Given the description of an element on the screen output the (x, y) to click on. 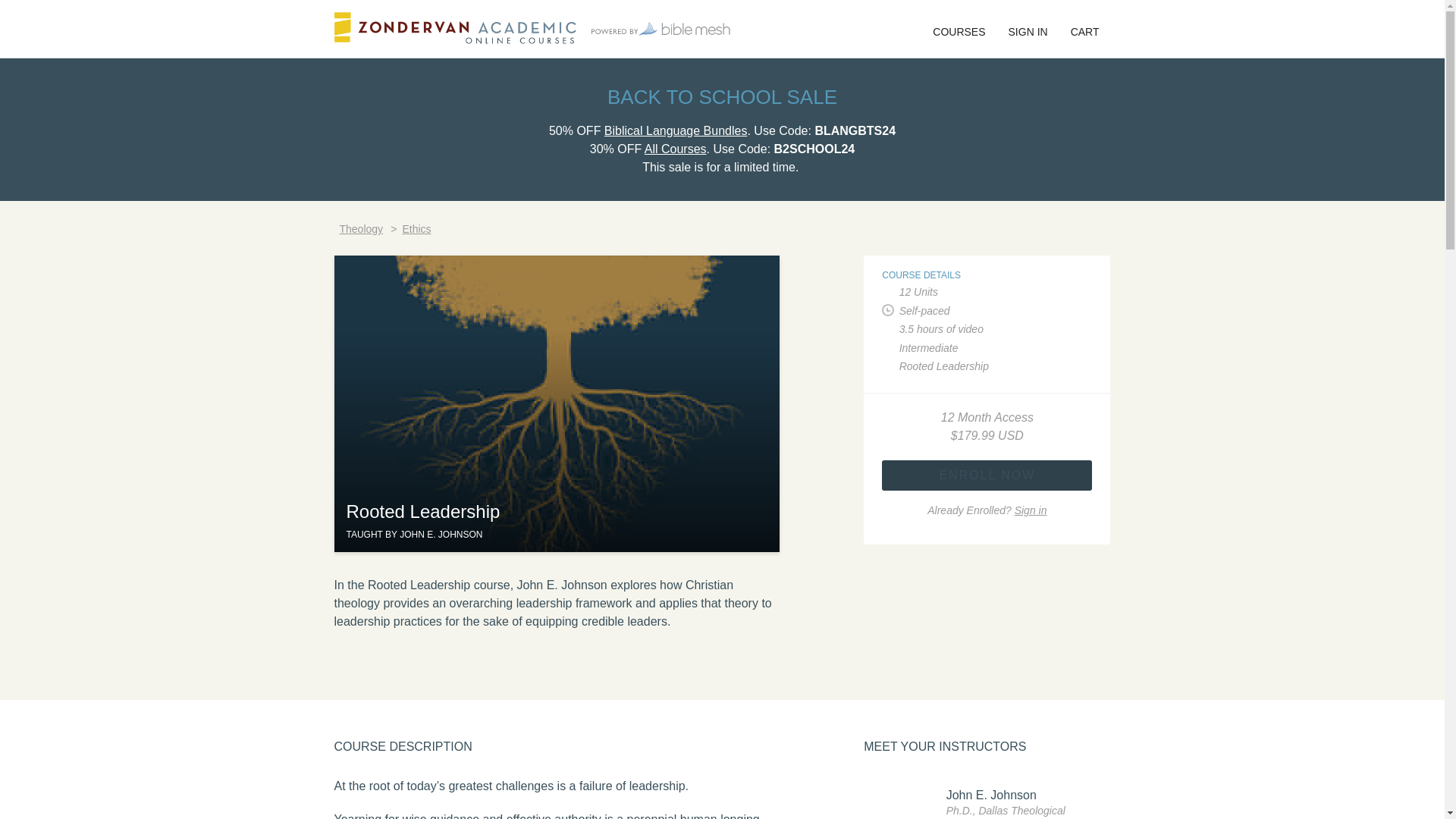
Sign in (1030, 509)
COURSES (958, 28)
SIGN IN (1028, 28)
ENROLL NOW (987, 474)
CART (1084, 28)
Ethics (415, 228)
All Courses (675, 148)
Biblical Language Bundles (676, 130)
Theology (361, 228)
